Given the description of an element on the screen output the (x, y) to click on. 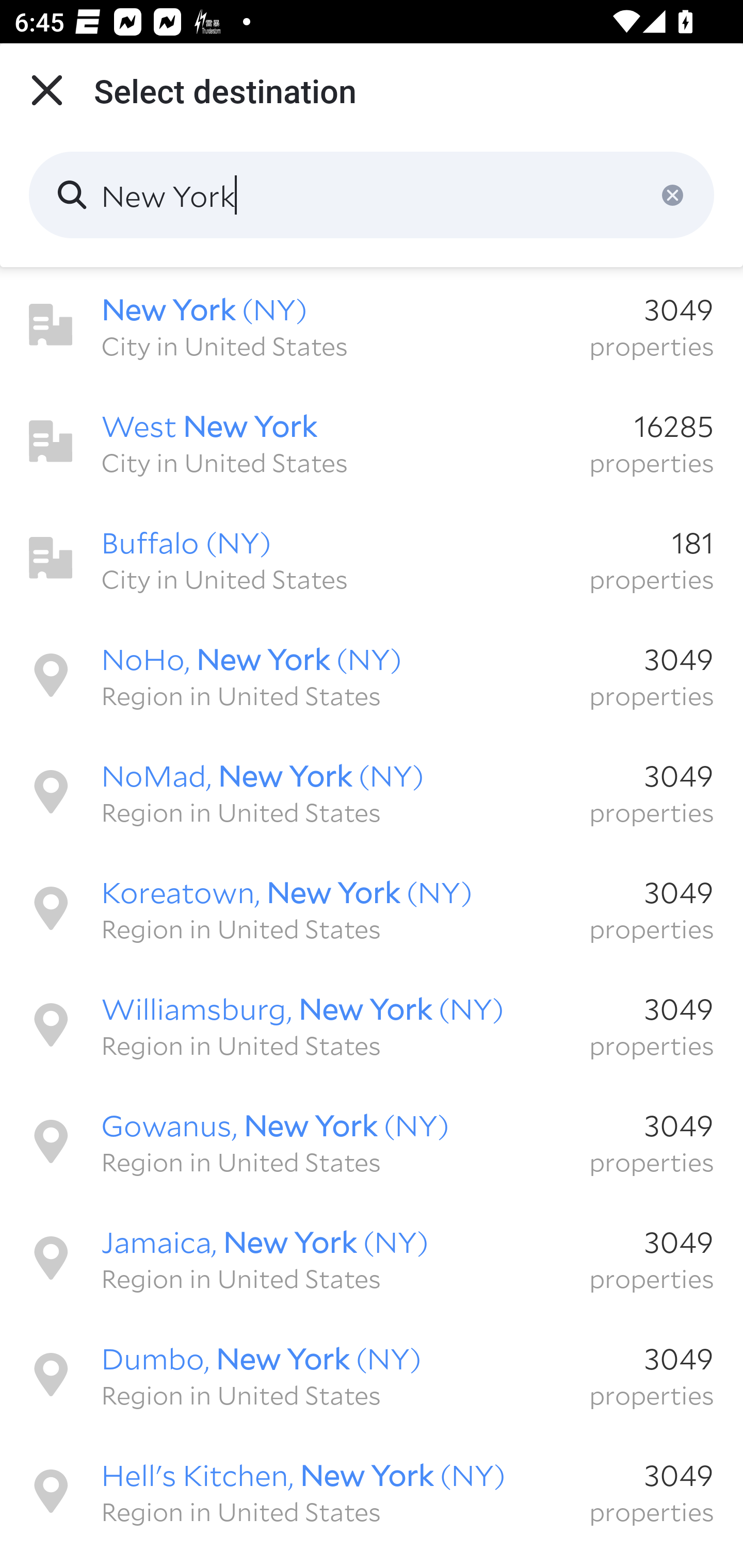
New York (371, 195)
Buffalo (NY) 181 City in United States properties (371, 558)
